Given the description of an element on the screen output the (x, y) to click on. 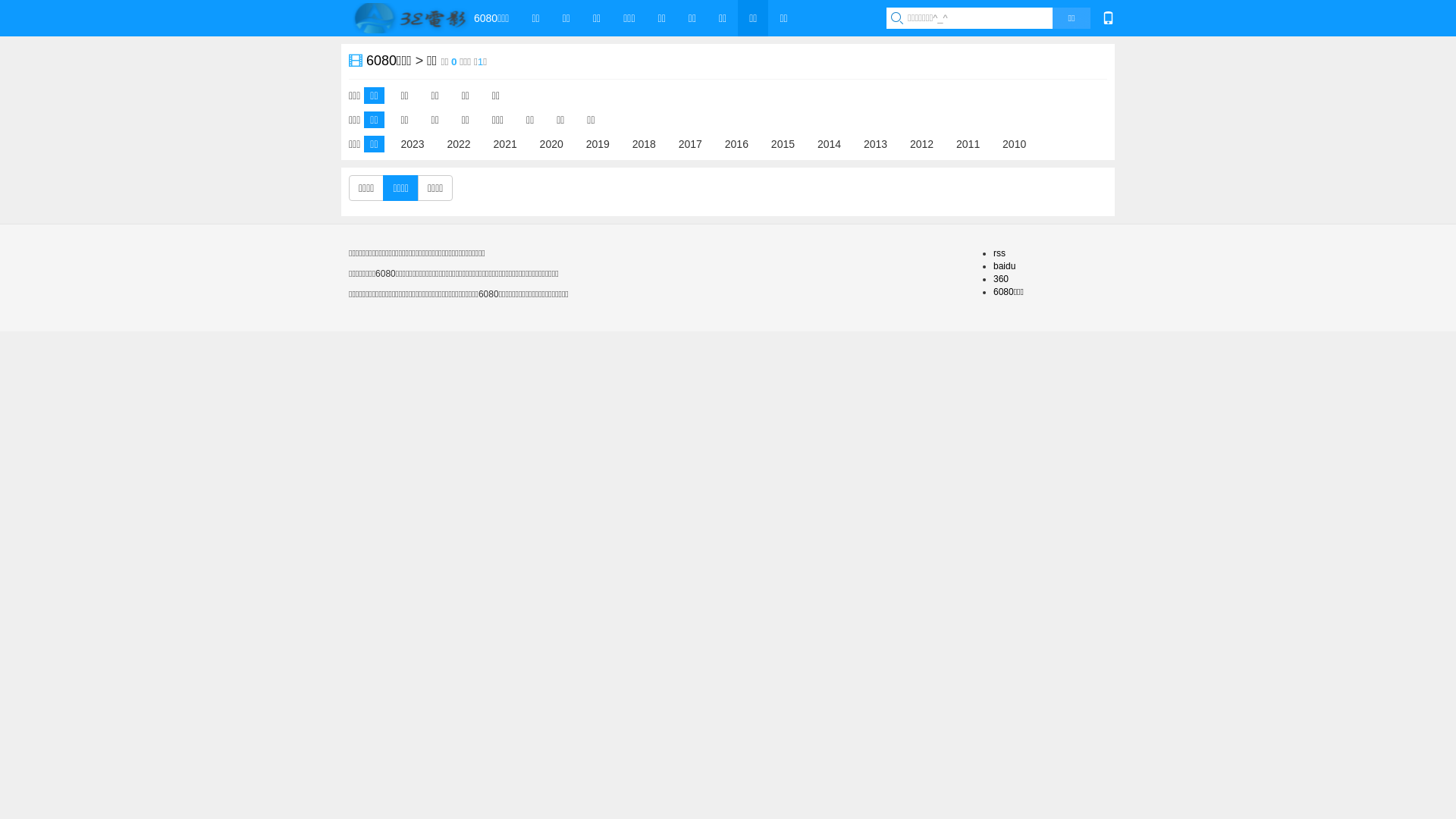
360 Element type: text (1000, 278)
2010 Element type: text (1014, 142)
2023 Element type: text (411, 142)
2016 Element type: text (736, 142)
2018 Element type: text (644, 142)
2011 Element type: text (967, 142)
2015 Element type: text (782, 142)
2022 Element type: text (458, 142)
2019 Element type: text (597, 142)
2012 Element type: text (921, 142)
2013 Element type: text (875, 142)
2021 Element type: text (505, 142)
2020 Element type: text (551, 142)
2014 Element type: text (829, 142)
2017 Element type: text (690, 142)
baidu Element type: text (1004, 265)
rss Element type: text (999, 252)
